Given the description of an element on the screen output the (x, y) to click on. 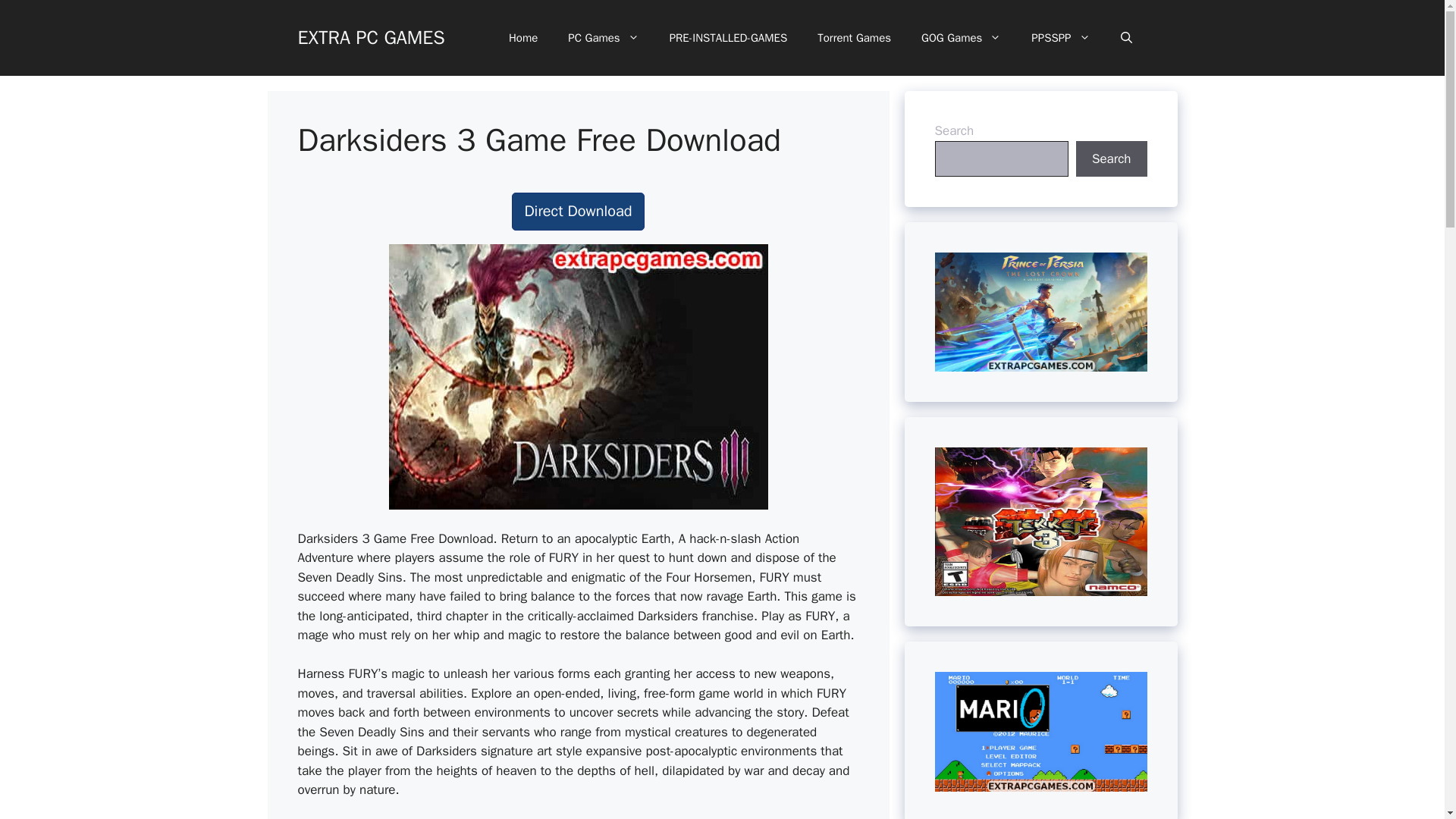
PC Games (603, 37)
Mari0-Unblocked (1040, 731)
PRE-INSTALLED-GAMES (728, 37)
Tekken-3-Free-Download (1040, 521)
Darksiders 3 Game Free Download 1 (577, 376)
EXTRA PC GAMES (370, 37)
Torrent Games (853, 37)
Home (523, 37)
GOG Games (960, 37)
